Given the description of an element on the screen output the (x, y) to click on. 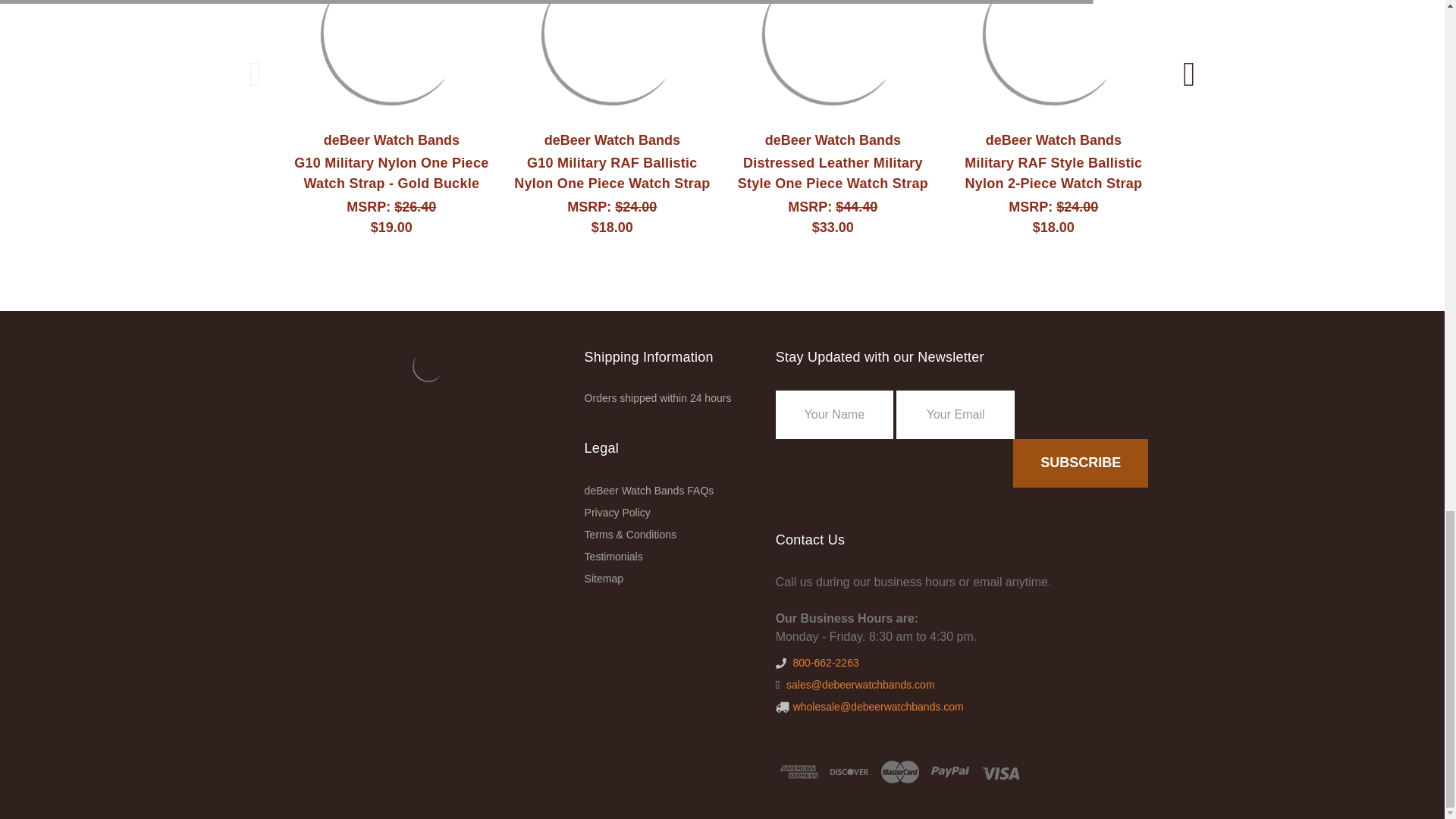
Subscribe (1080, 462)
